Given the description of an element on the screen output the (x, y) to click on. 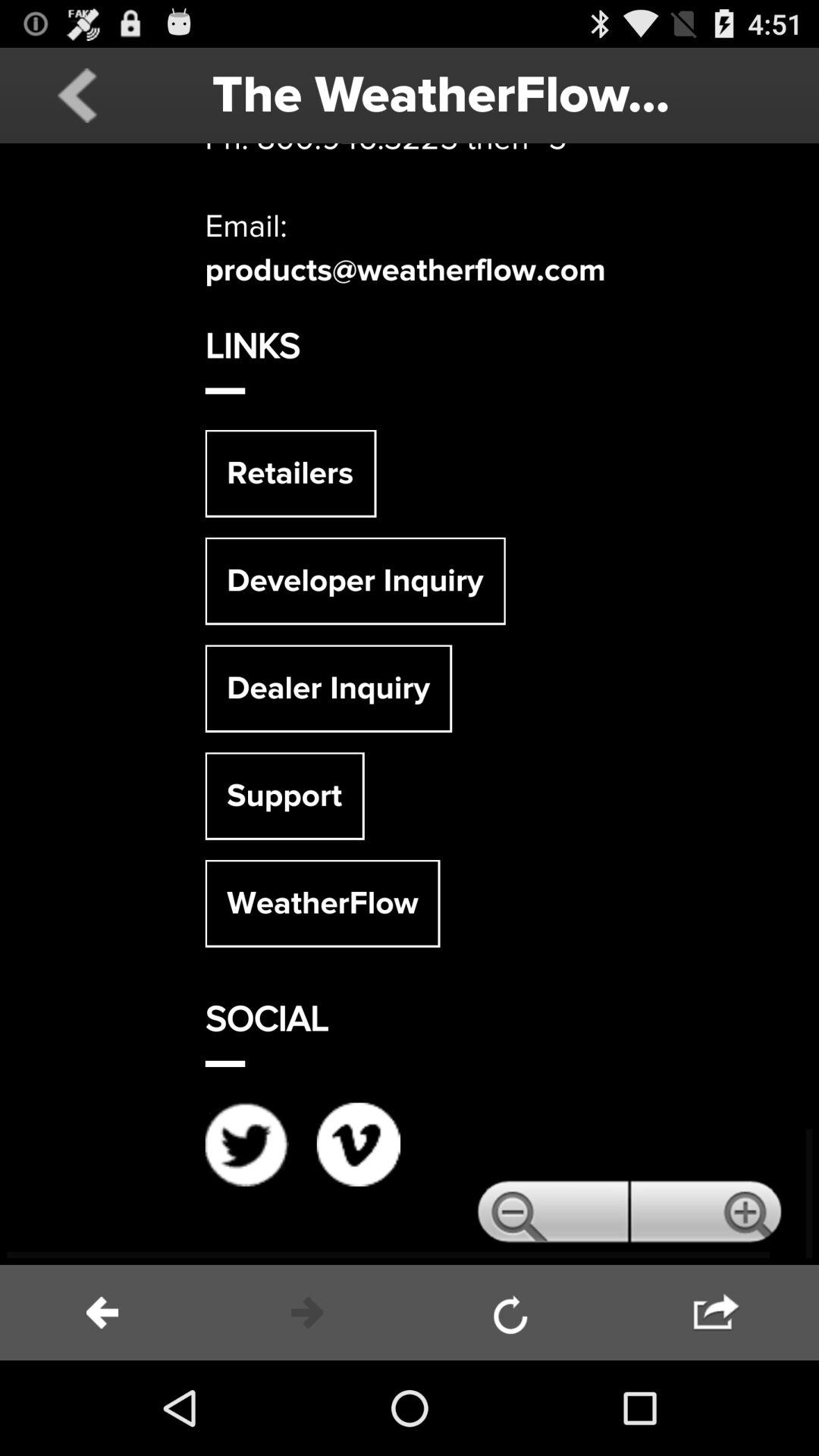
go to previous (77, 95)
